Given the description of an element on the screen output the (x, y) to click on. 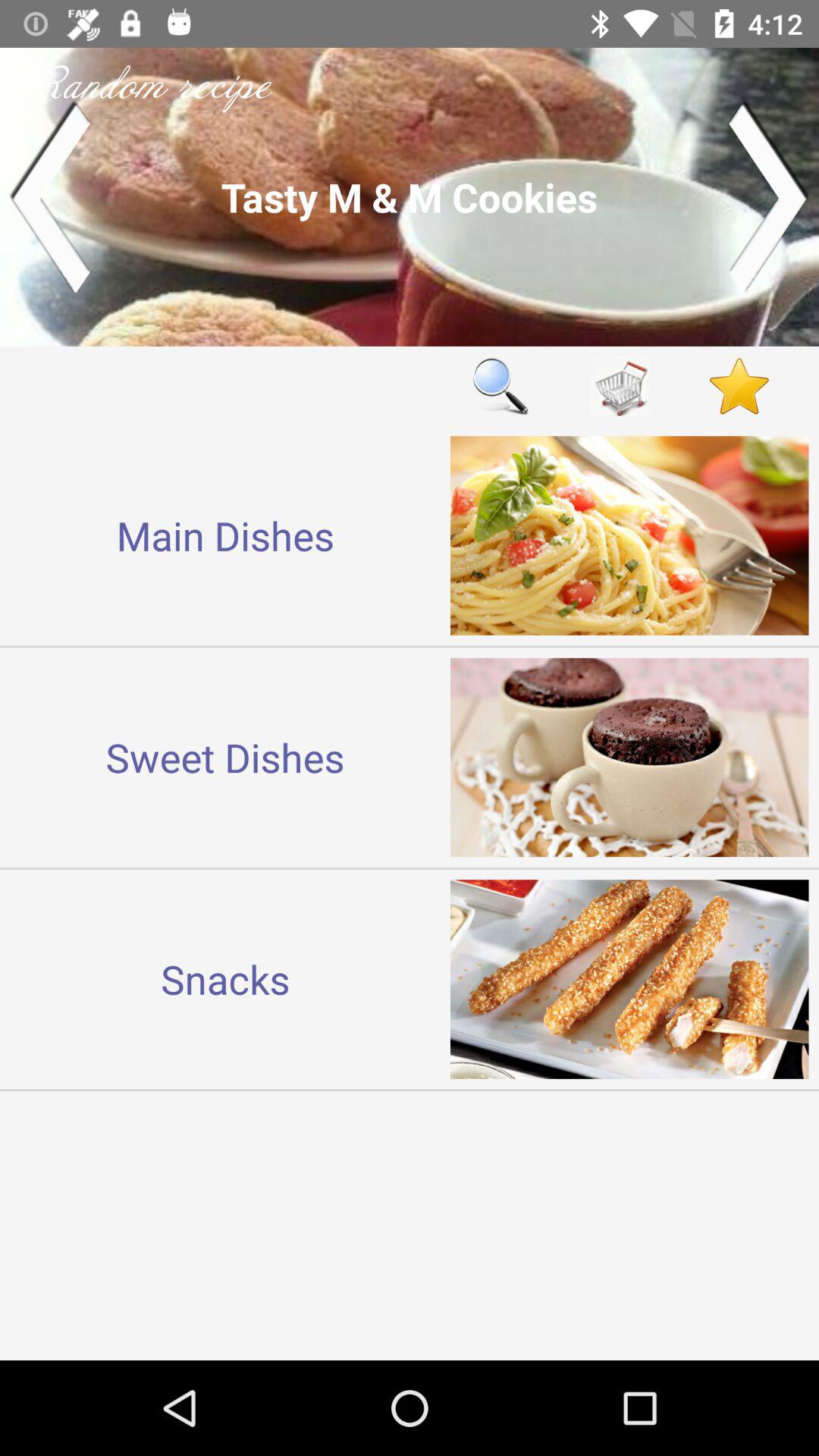
shopping cart (619, 385)
